Given the description of an element on the screen output the (x, y) to click on. 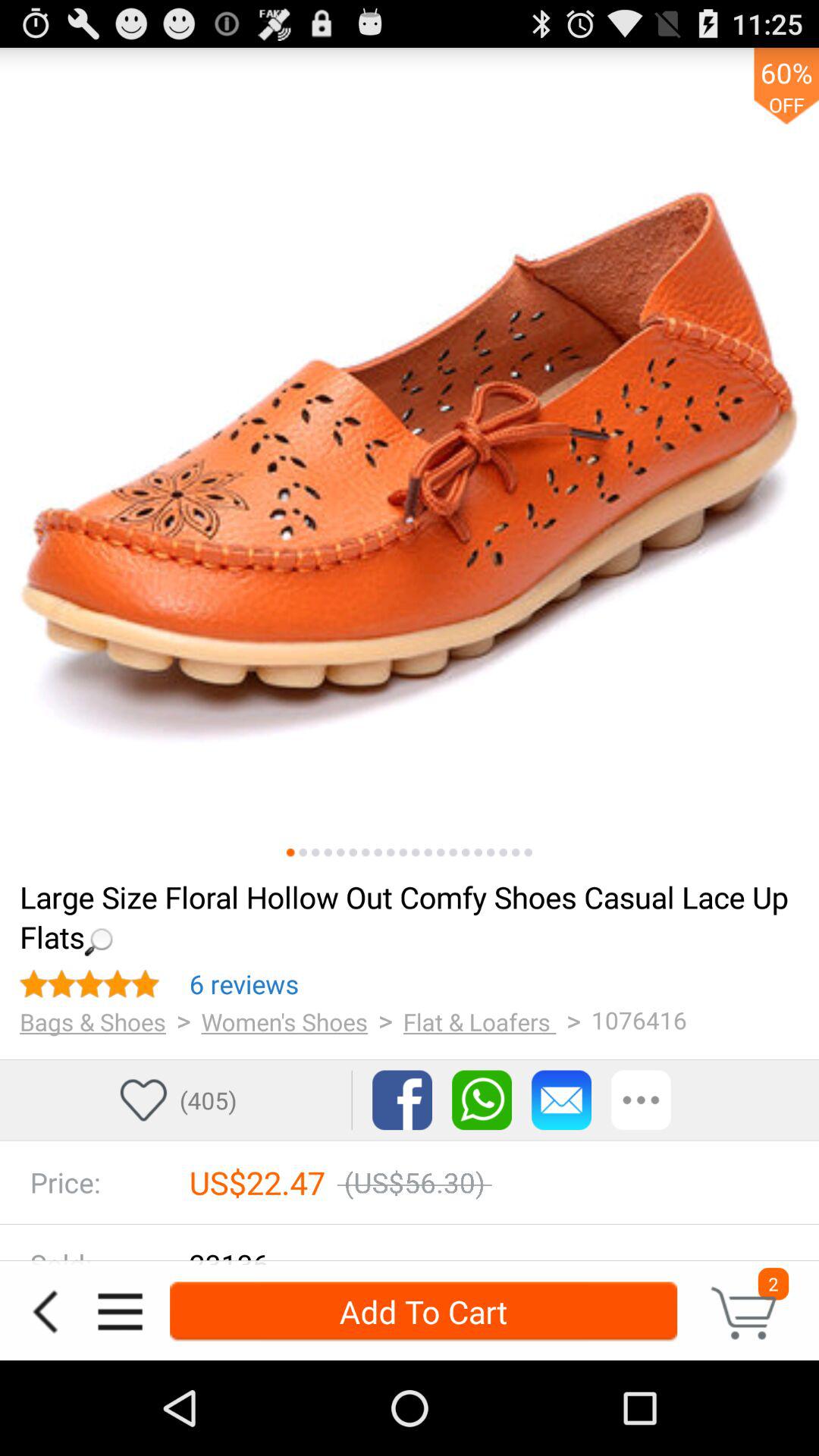
view more images (328, 852)
